Given the description of an element on the screen output the (x, y) to click on. 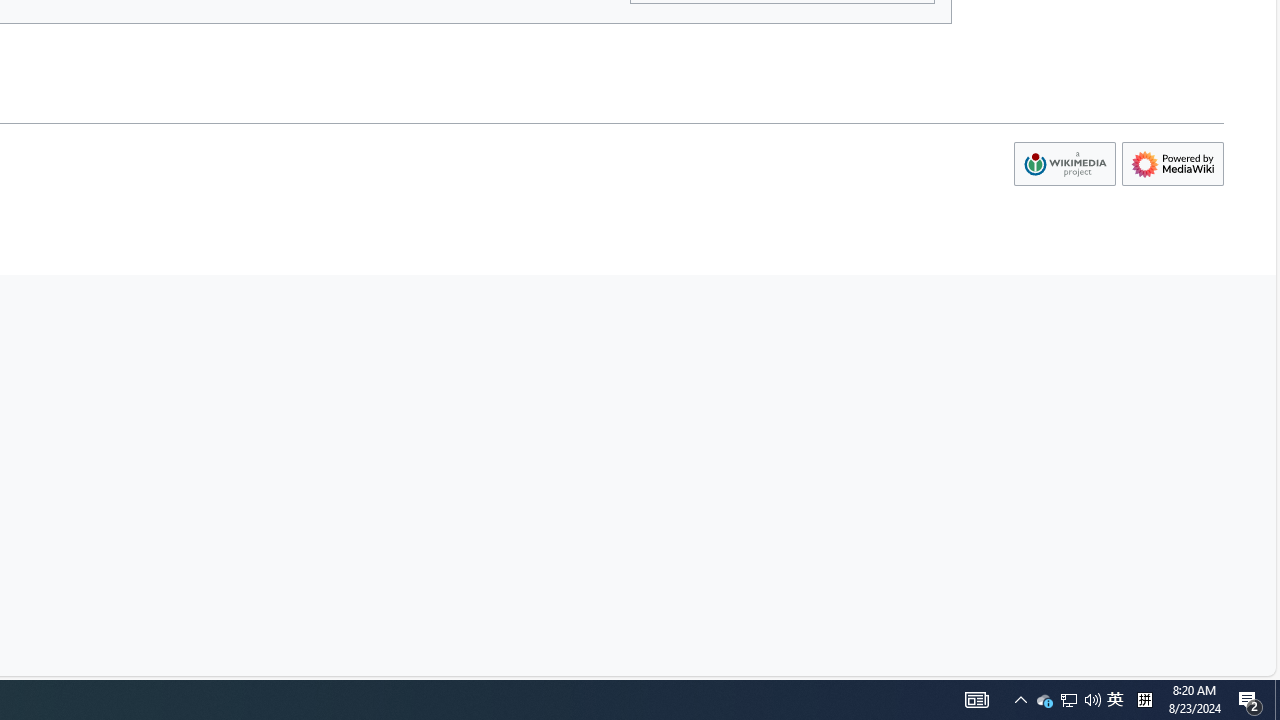
AutomationID: footer-copyrightico (1064, 164)
Powered by MediaWiki (1172, 164)
Wikimedia Foundation (1064, 164)
AutomationID: footer-poweredbyico (1172, 164)
Wikimedia Foundation (1064, 164)
Powered by MediaWiki (1172, 164)
